Given the description of an element on the screen output the (x, y) to click on. 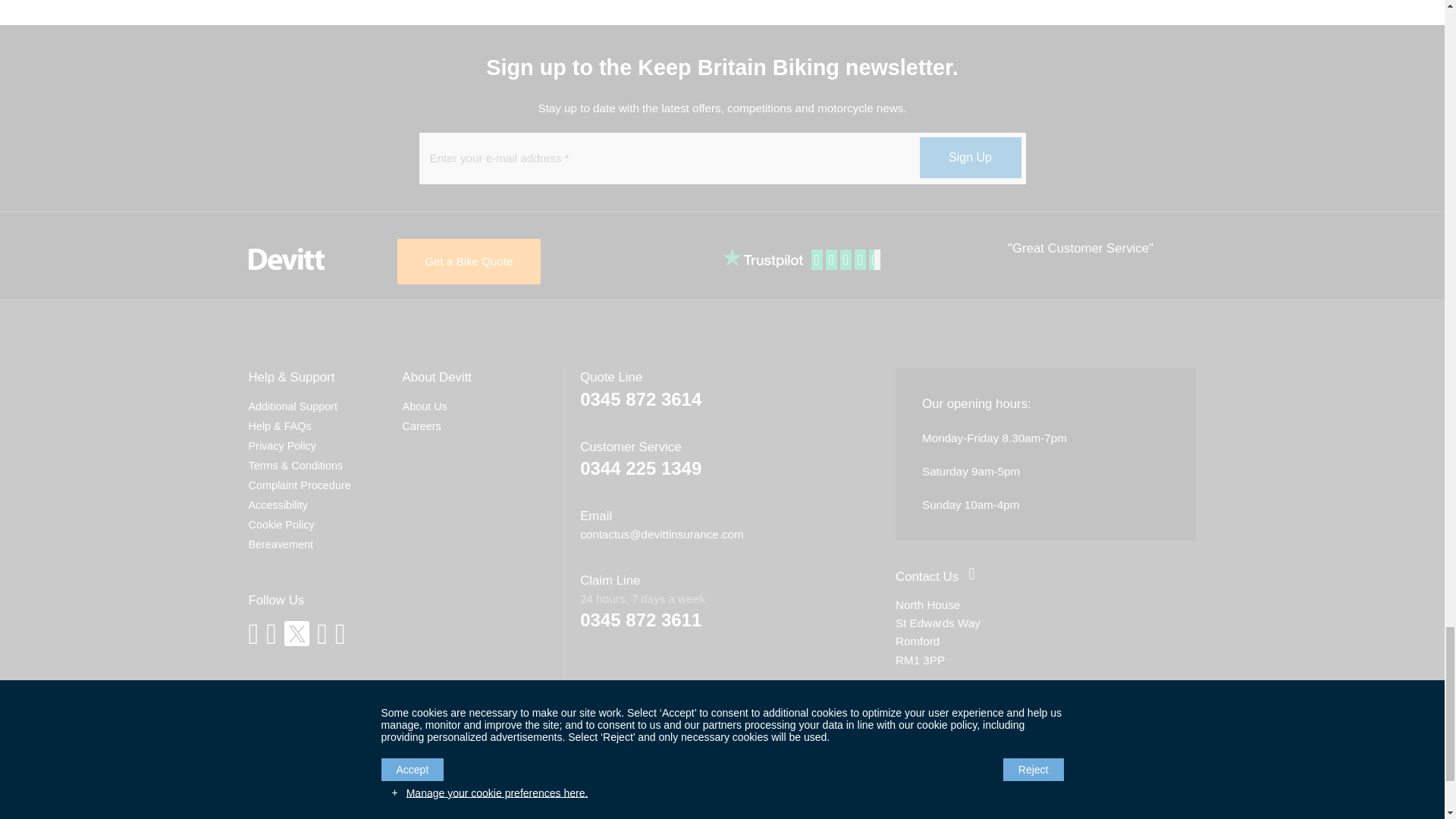
Return to Devitt Insurance homepage (286, 259)
Sign Up (969, 157)
Get in-touch with the Devitt team (926, 576)
Rated 4.5 stars out of 5 (846, 259)
Follow us on Twitter (295, 633)
